Given the description of an element on the screen output the (x, y) to click on. 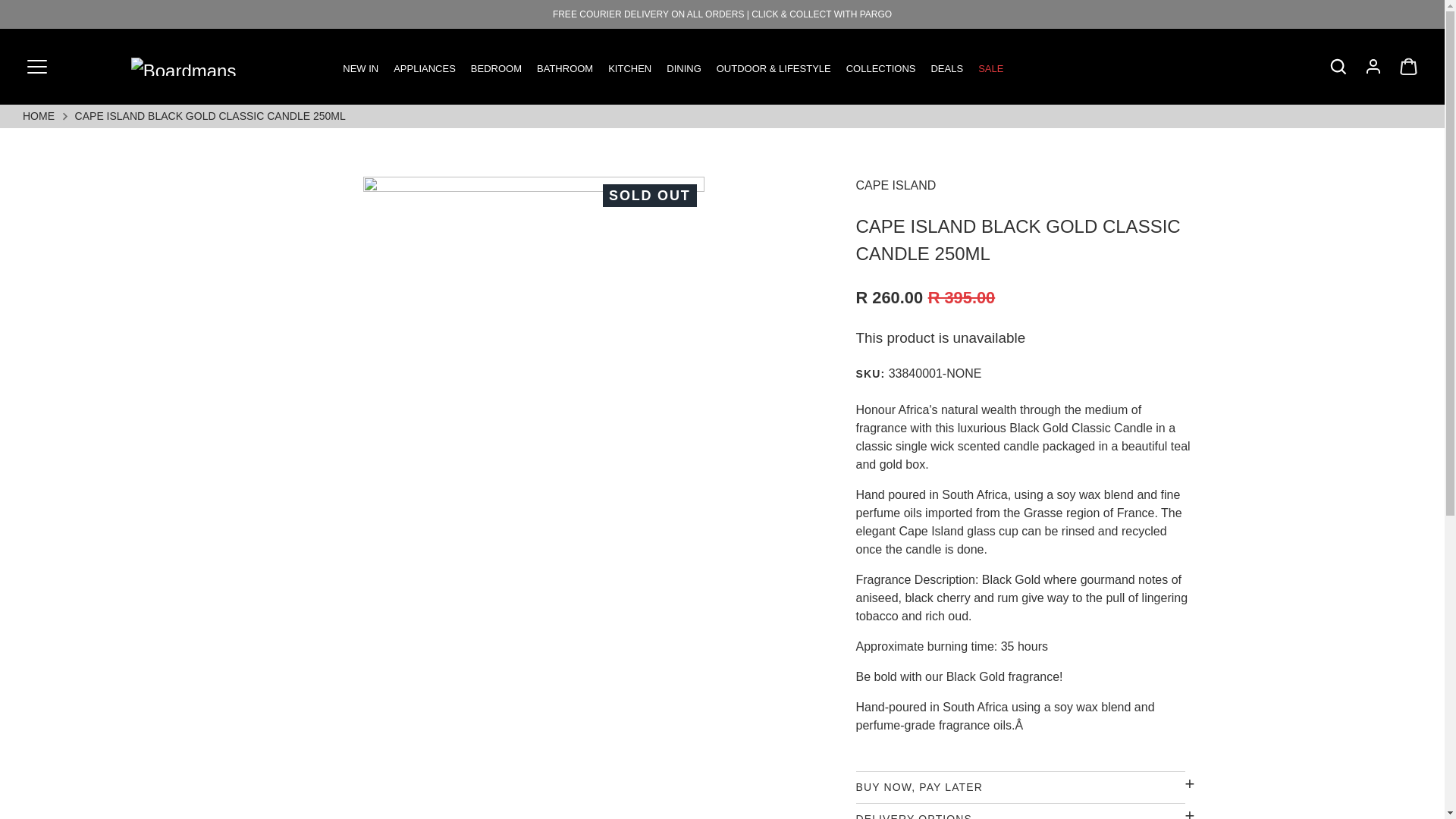
NEW IN (360, 80)
APPLIANCES (424, 80)
